Given the description of an element on the screen output the (x, y) to click on. 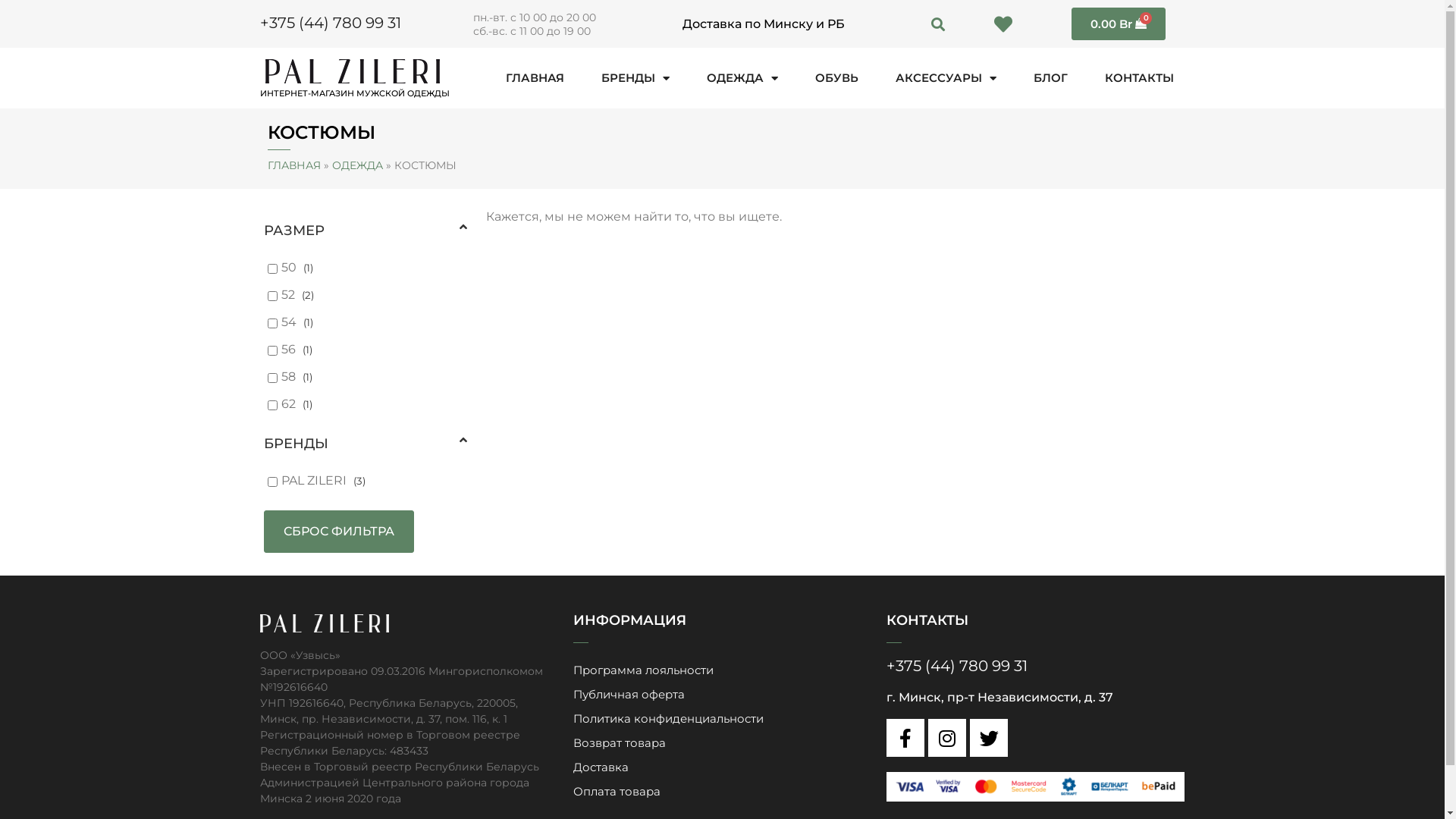
+375 (44) 780 99 31 Element type: text (956, 665)
0.00 Br
0 Element type: text (1118, 23)
+375 (44) 780 99 31 Element type: text (329, 22)
